Given the description of an element on the screen output the (x, y) to click on. 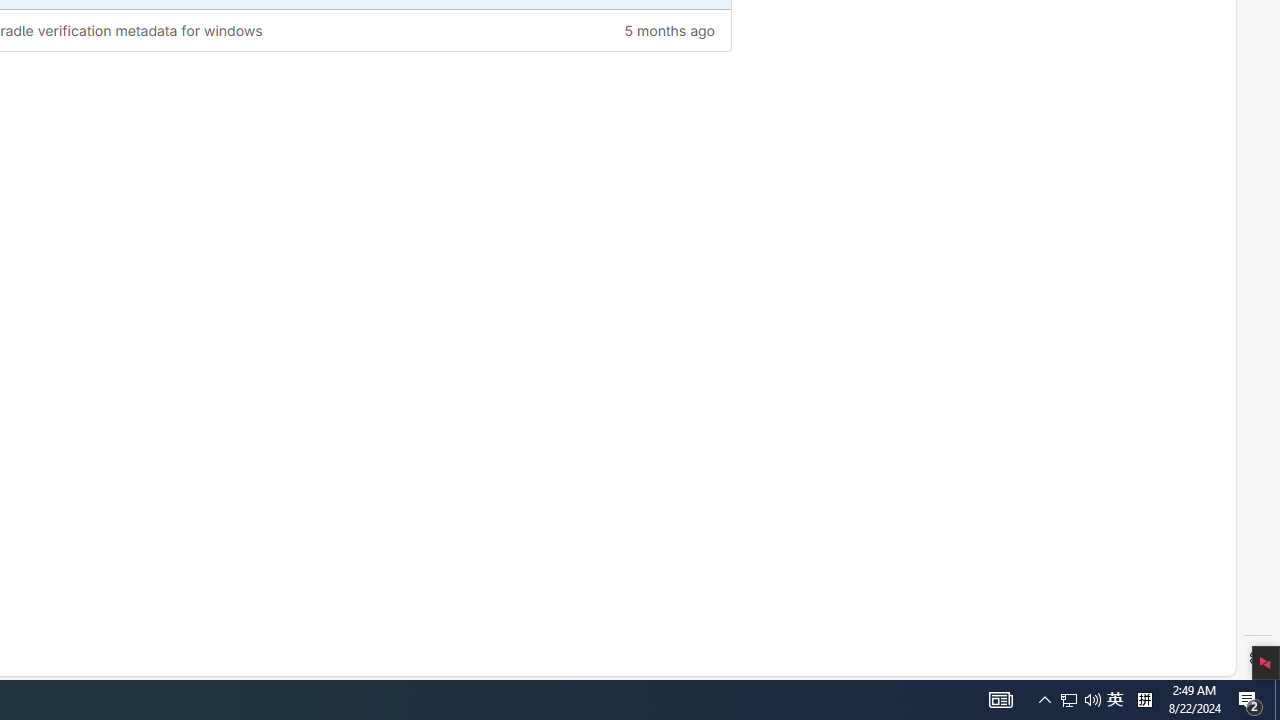
5 months ago (613, 29)
